Given the description of an element on the screen output the (x, y) to click on. 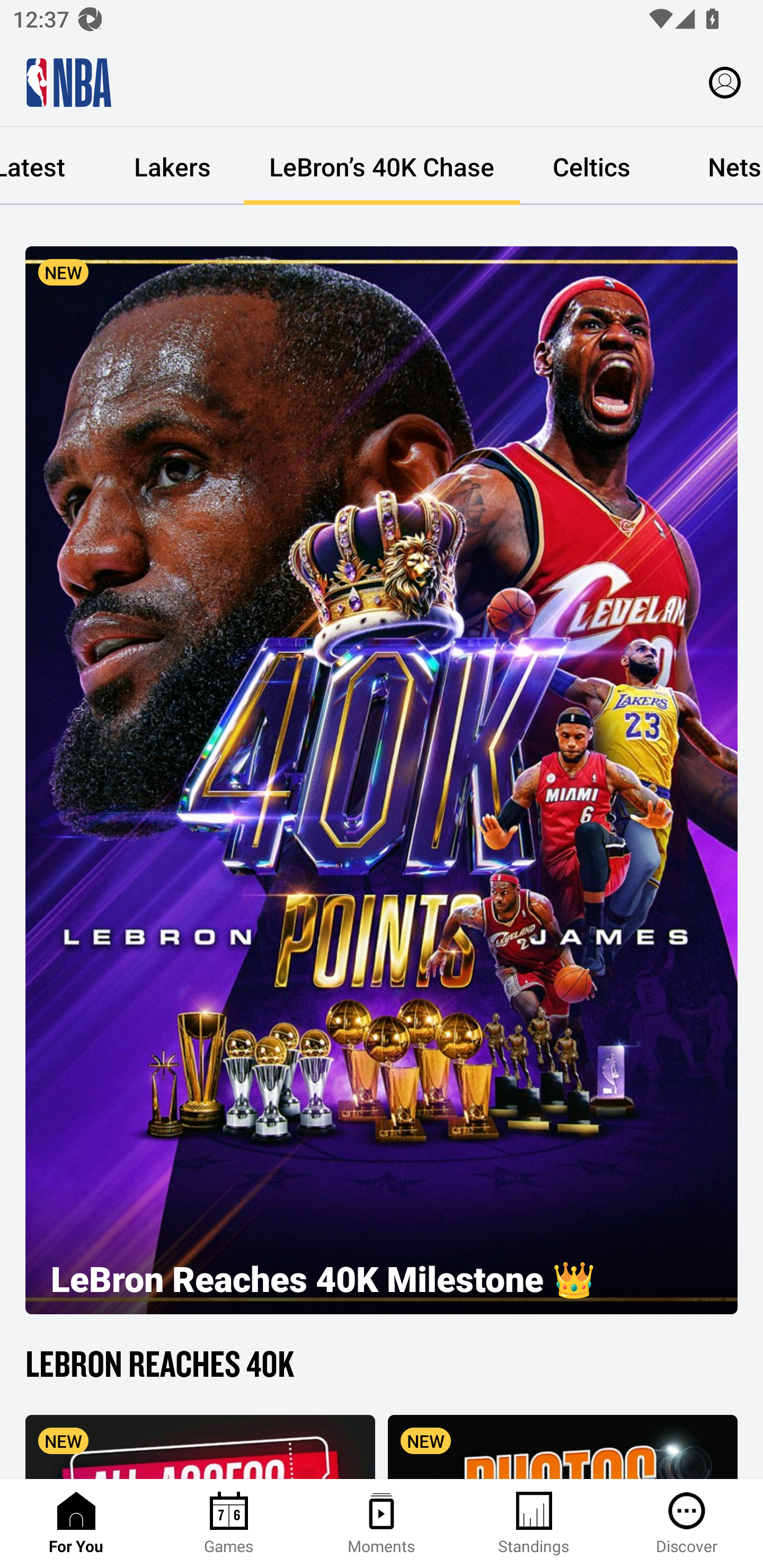
Profile (724, 81)
Lakers (171, 166)
Celtics (591, 166)
NEW LeBron Reaches 40K Milestone 👑 (381, 779)
LEBRON REACHES 40K NEW NEW (381, 1408)
Games (228, 1523)
Moments (381, 1523)
Standings (533, 1523)
Discover (686, 1523)
